Given the description of an element on the screen output the (x, y) to click on. 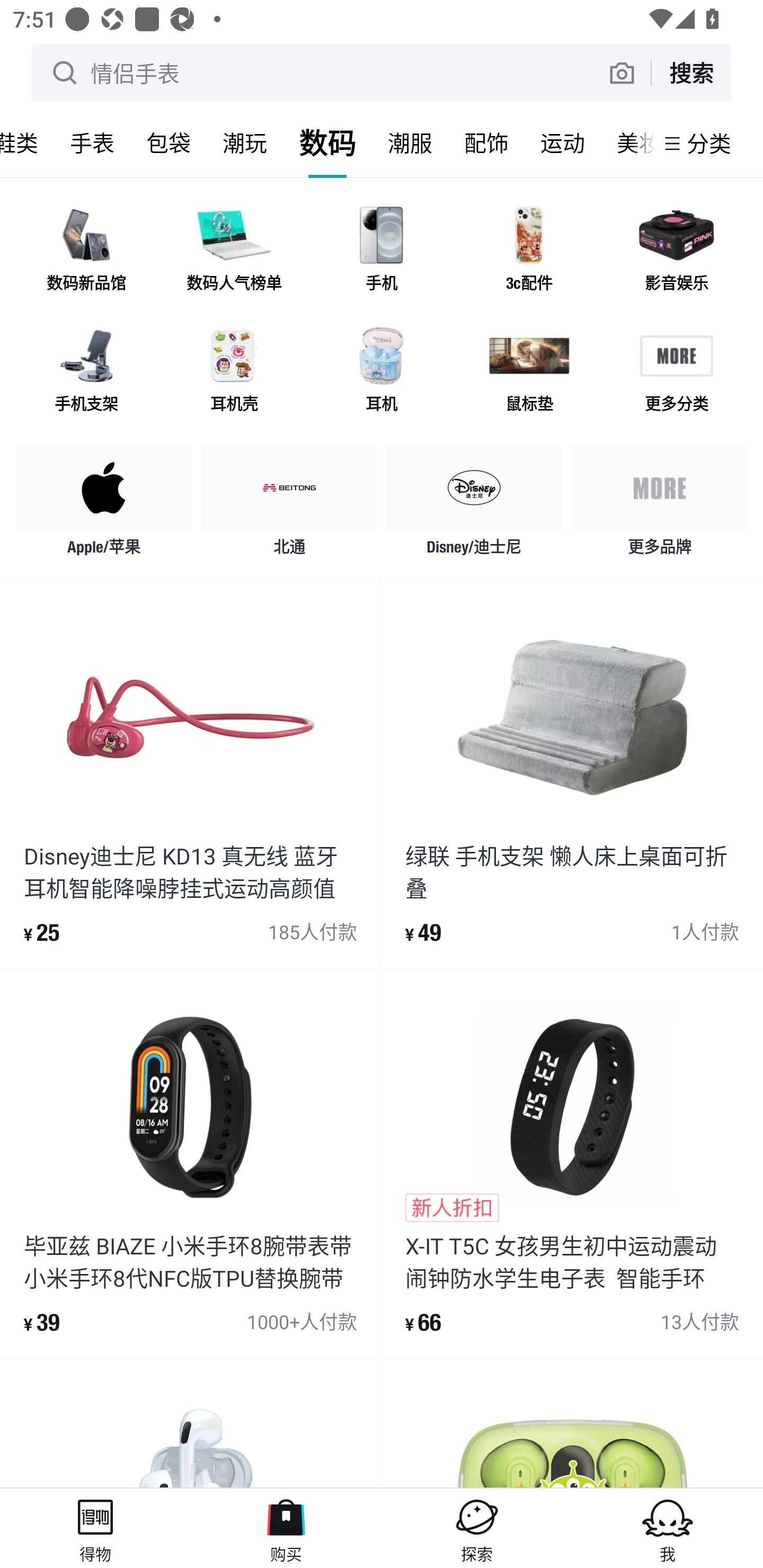
搜索 (690, 72)
鞋类 (27, 143)
手表 (92, 143)
包袋 (168, 143)
潮玩 (244, 143)
数码 (327, 143)
潮服 (410, 143)
配饰 (486, 143)
运动 (562, 143)
美妆 (627, 143)
分类 (708, 143)
数码新品馆 (86, 251)
数码人气榜单 (233, 251)
手机 (381, 251)
3c配件 (528, 251)
影音娱乐 (676, 251)
手机支架 (86, 372)
耳机壳 (233, 372)
耳机 (381, 372)
鼠标垫 (528, 372)
更多分类 (676, 372)
Apple/苹果 (103, 505)
北通 (288, 505)
Disney/迪士尼 (473, 505)
更多品牌 (658, 505)
product_item 绿联 手机支架 懒人床上桌面可折
叠 ¥ 49 1人付款 (572, 773)
得物 (95, 1528)
购买 (285, 1528)
探索 (476, 1528)
我 (667, 1528)
